Given the description of an element on the screen output the (x, y) to click on. 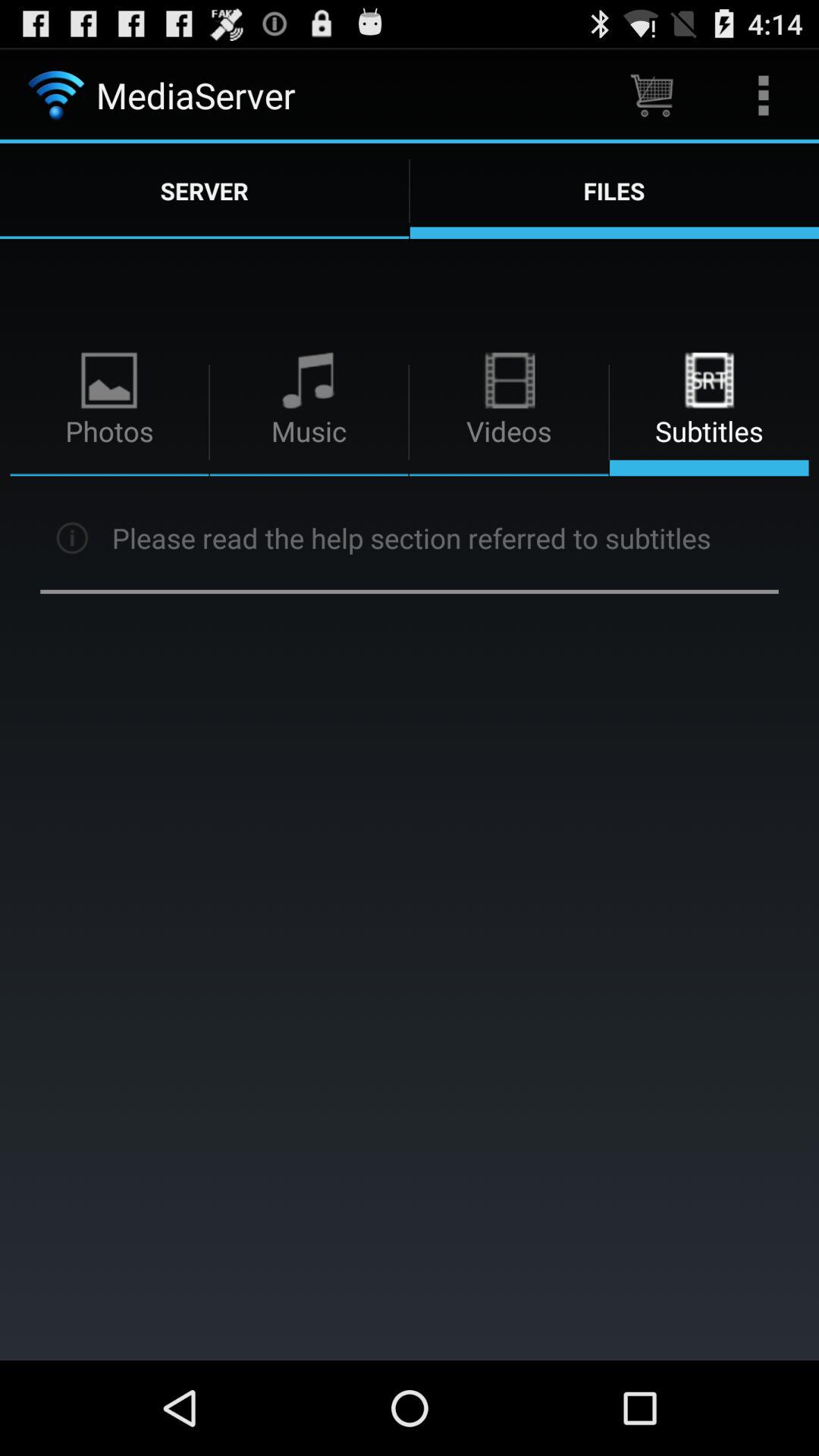
select app to the right of the mediaserver item (651, 95)
